Given the description of an element on the screen output the (x, y) to click on. 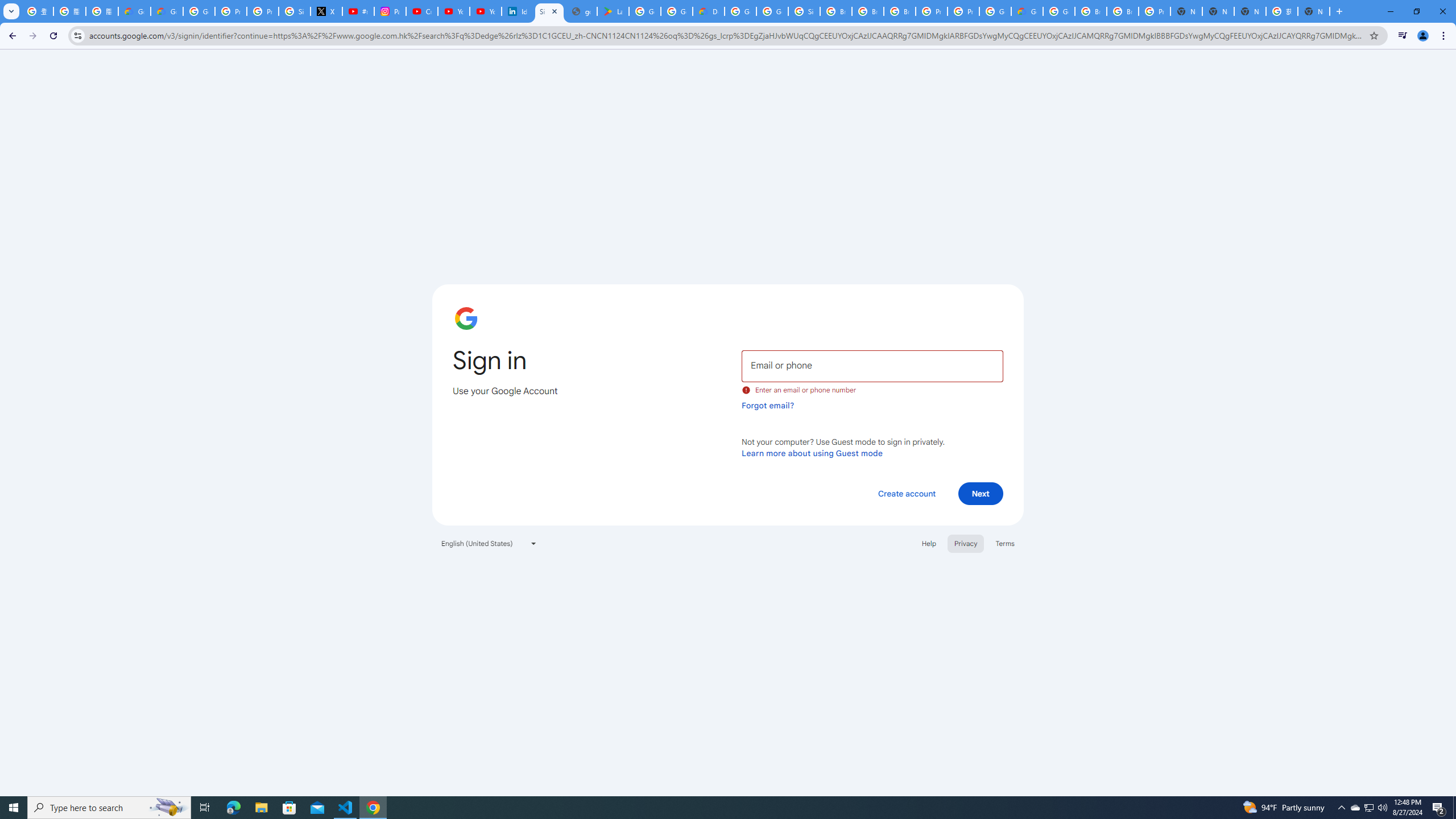
New Tab (1313, 11)
Sign in - Google Accounts (549, 11)
X (326, 11)
Sign in - Google Accounts (804, 11)
Google Cloud Platform (995, 11)
Create account (905, 493)
